Given the description of an element on the screen output the (x, y) to click on. 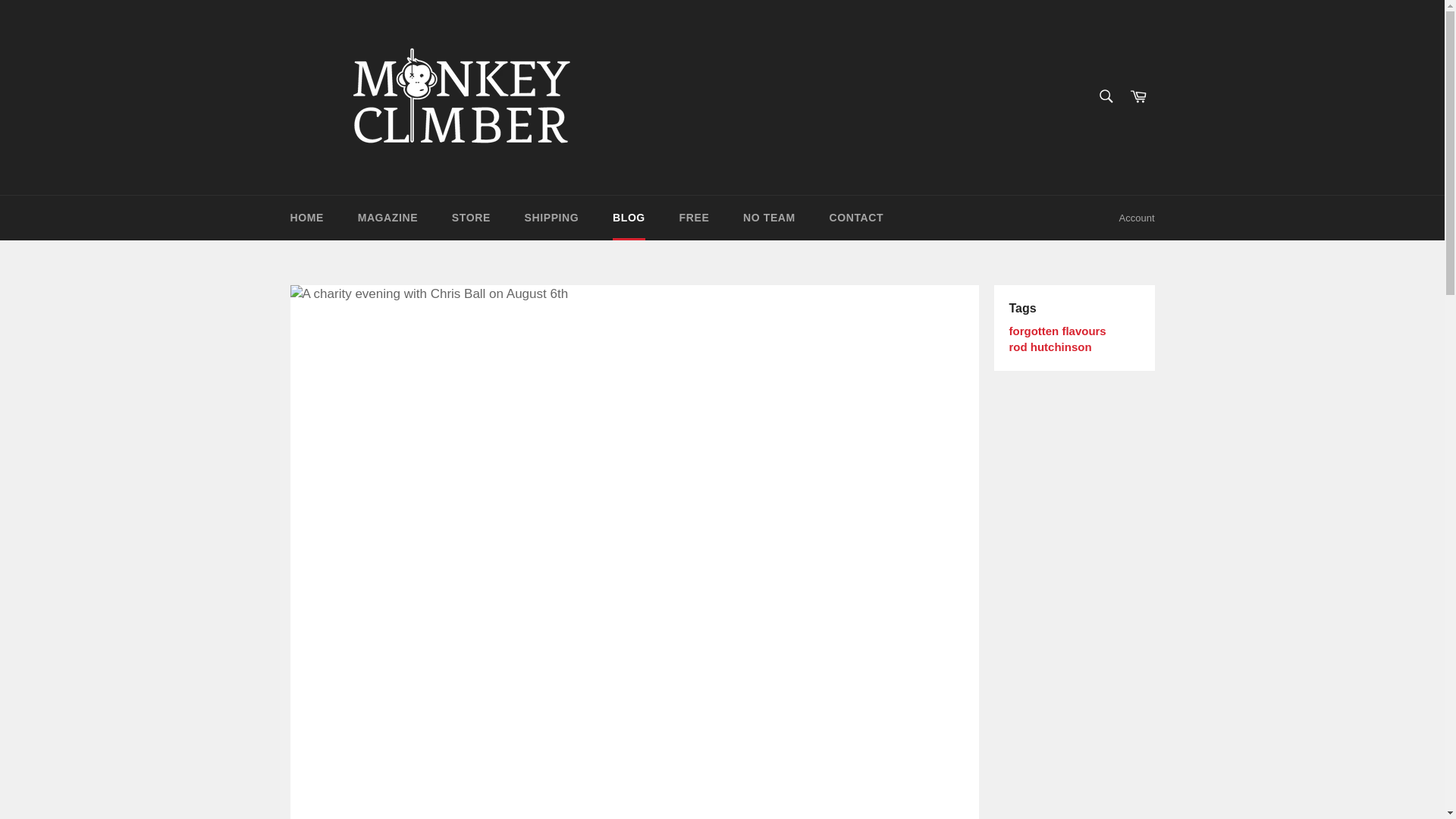
FREE (694, 217)
SHIPPING (551, 217)
Search (1104, 96)
Show articles tagged rod hutchinson (1049, 346)
forgotten flavours (1057, 330)
CONTACT (856, 217)
Cart (1138, 97)
STORE (470, 217)
MAGAZINE (387, 217)
HOME (306, 217)
